Given the description of an element on the screen output the (x, y) to click on. 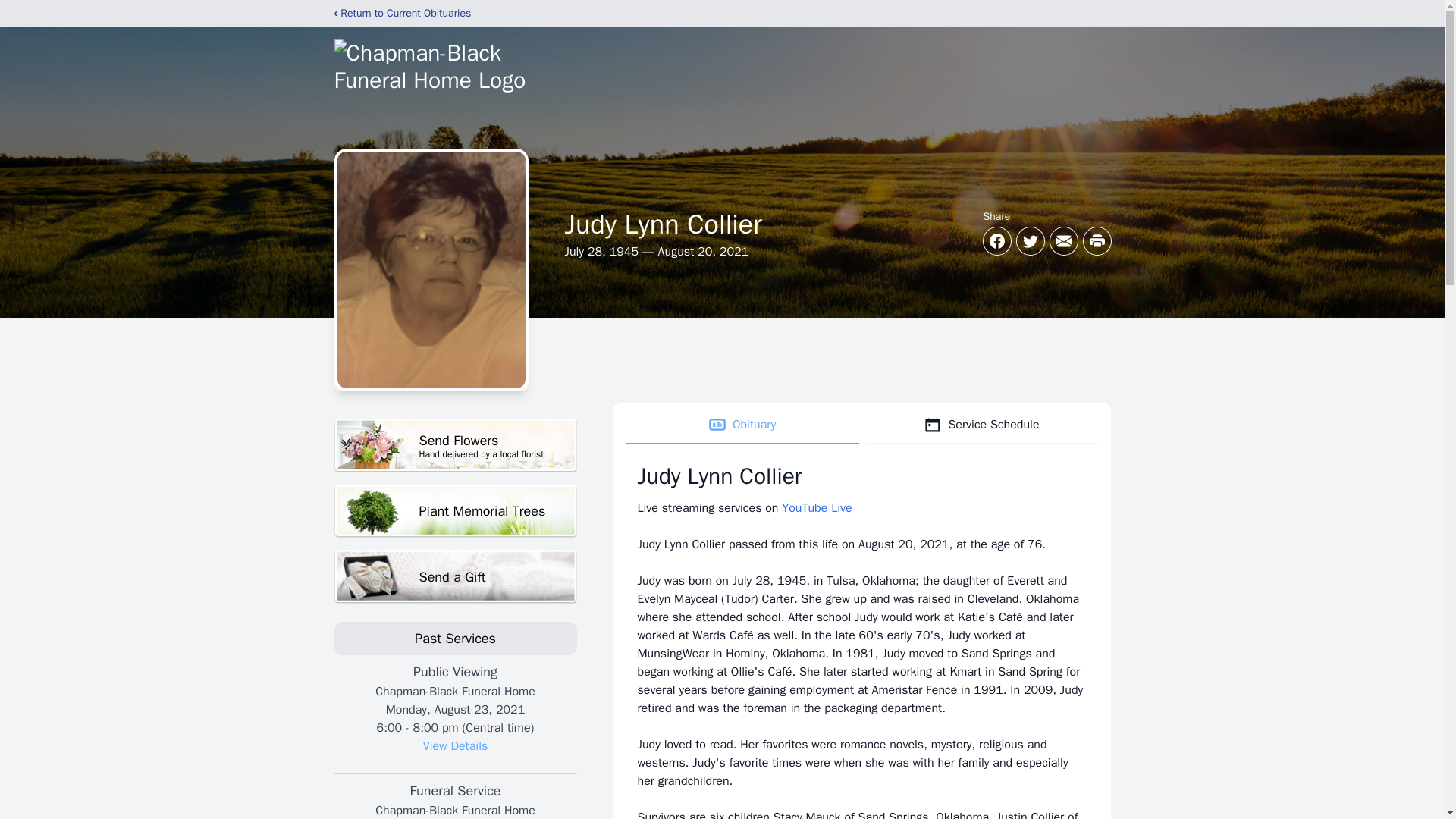
Service Schedule (980, 425)
Plant Memorial Trees (454, 511)
YouTube Live (816, 507)
Obituary (741, 425)
Send a Gift (454, 445)
View Details (454, 576)
